Given the description of an element on the screen output the (x, y) to click on. 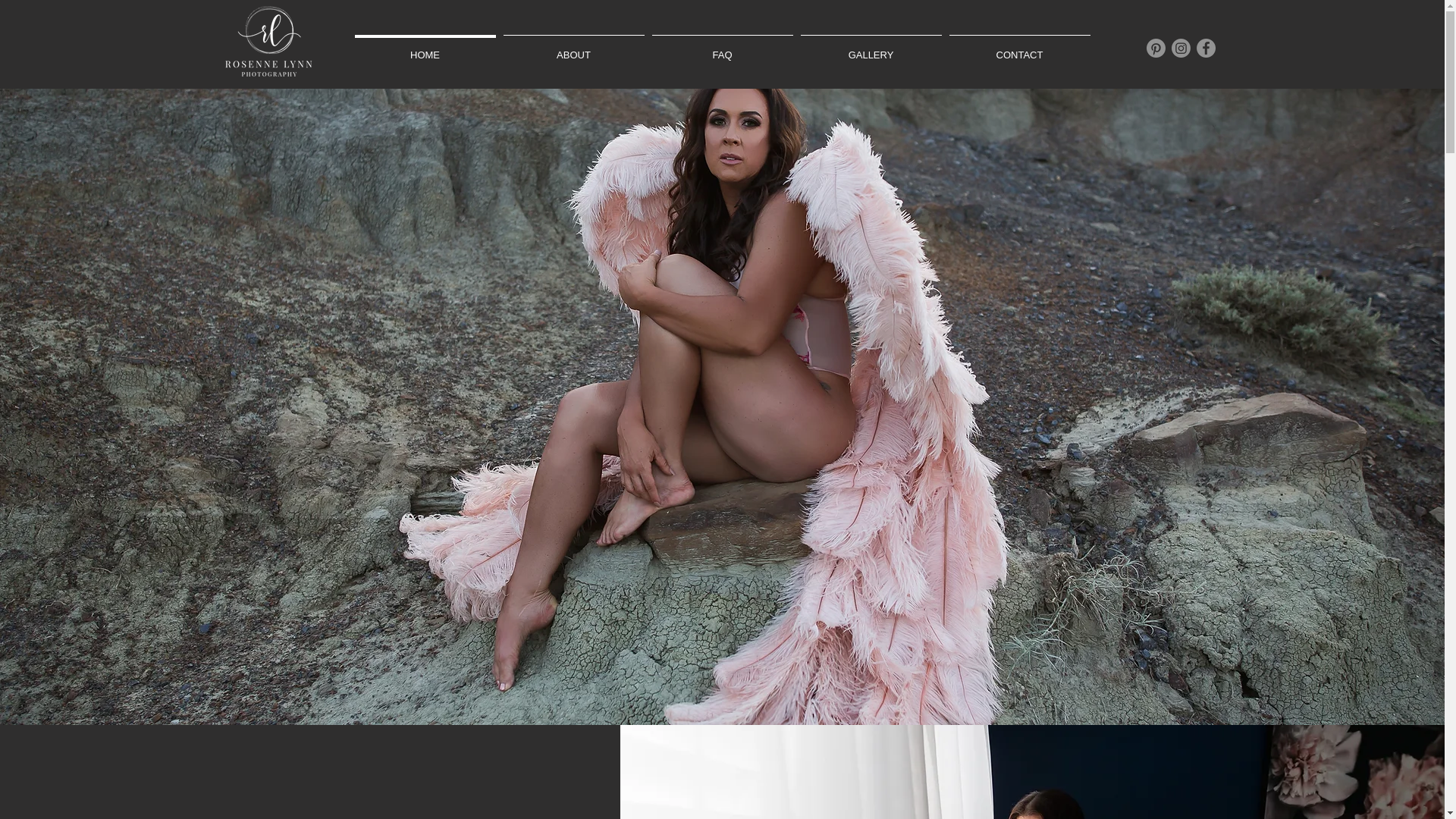
CONTACT (1018, 48)
HOME (424, 48)
GALLERY (870, 48)
ABOUT (573, 48)
FAQ (721, 48)
